Given the description of an element on the screen output the (x, y) to click on. 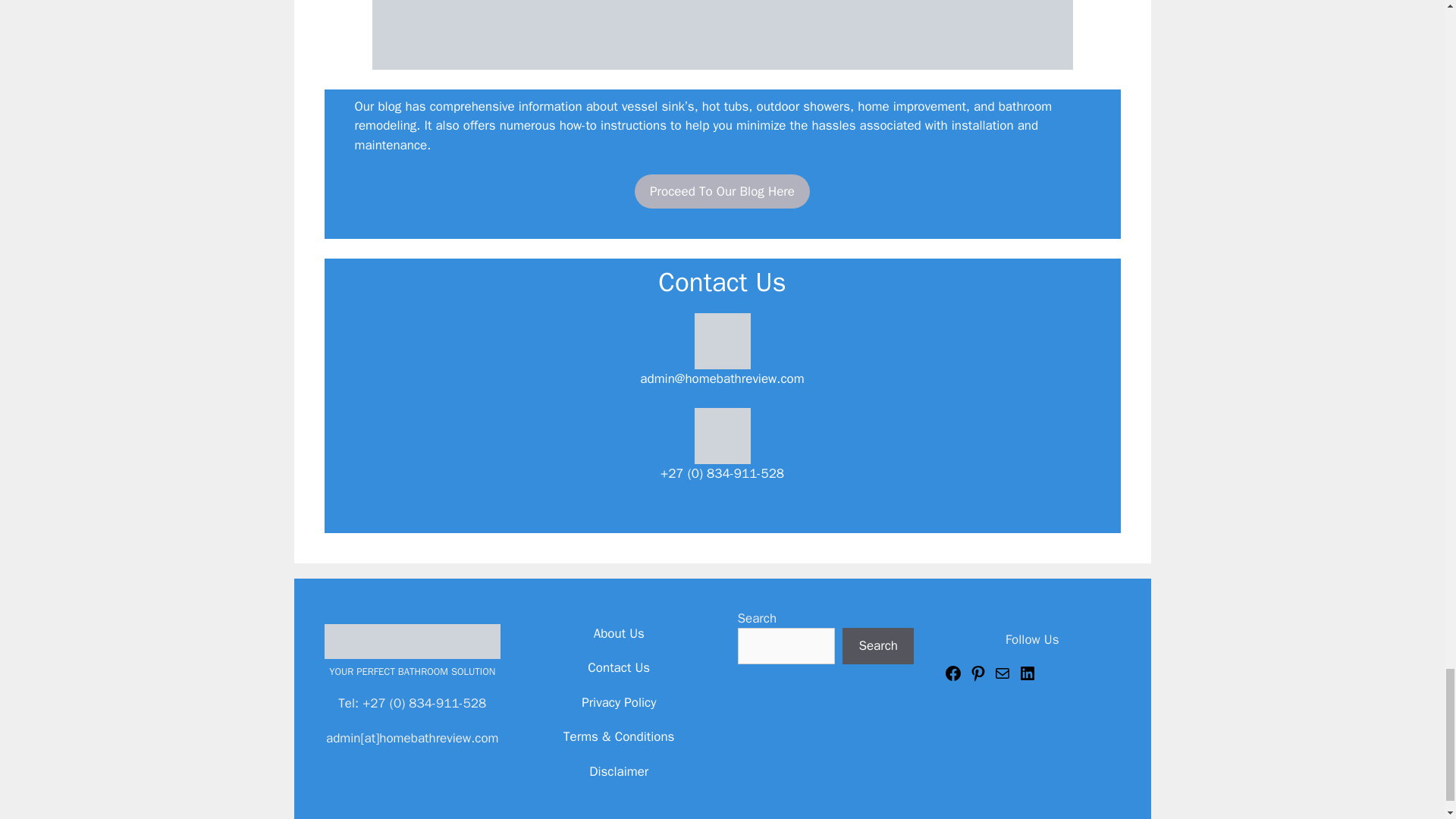
LinkedIn (1026, 678)
Search (878, 646)
Disclaimer (618, 771)
Mail (1001, 678)
About Us (619, 633)
Privacy Policy (618, 702)
Facebook (952, 678)
Contact Us (618, 667)
Proceed To Our Blog Here (721, 191)
Pinterest (978, 678)
